Given the description of an element on the screen output the (x, y) to click on. 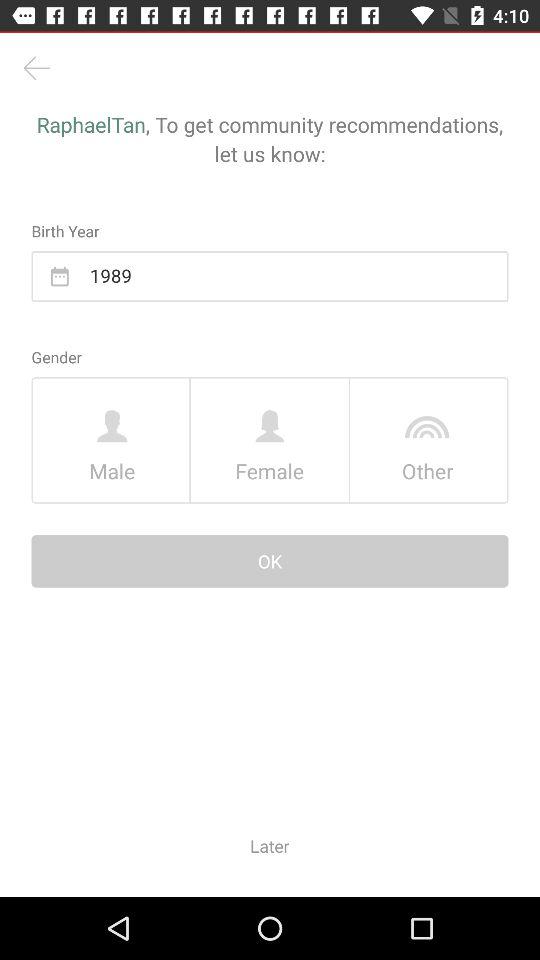
go back (36, 68)
